Given the description of an element on the screen output the (x, y) to click on. 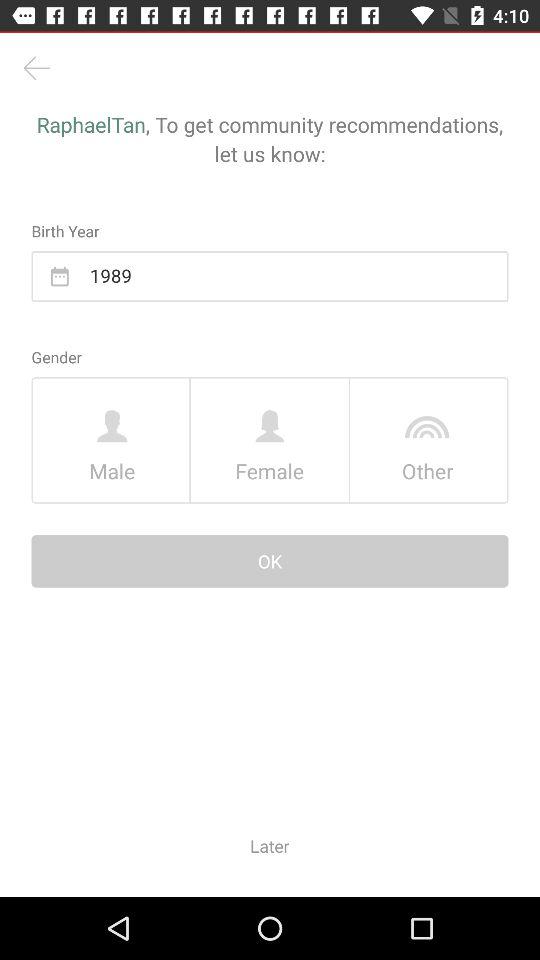
go back (36, 68)
